Given the description of an element on the screen output the (x, y) to click on. 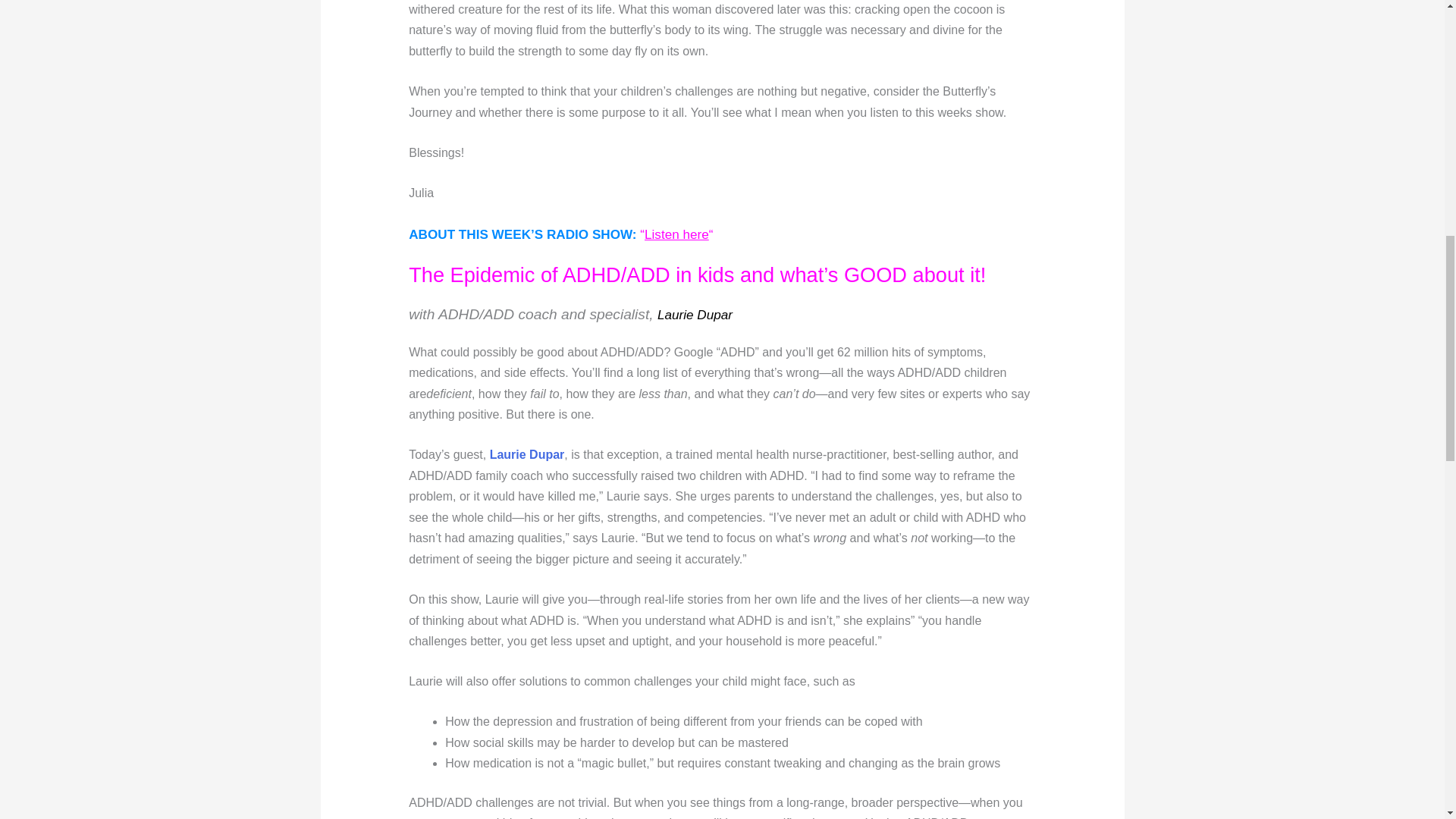
Laurie Dupar (526, 454)
Laurie Dupar (695, 314)
